Given the description of an element on the screen output the (x, y) to click on. 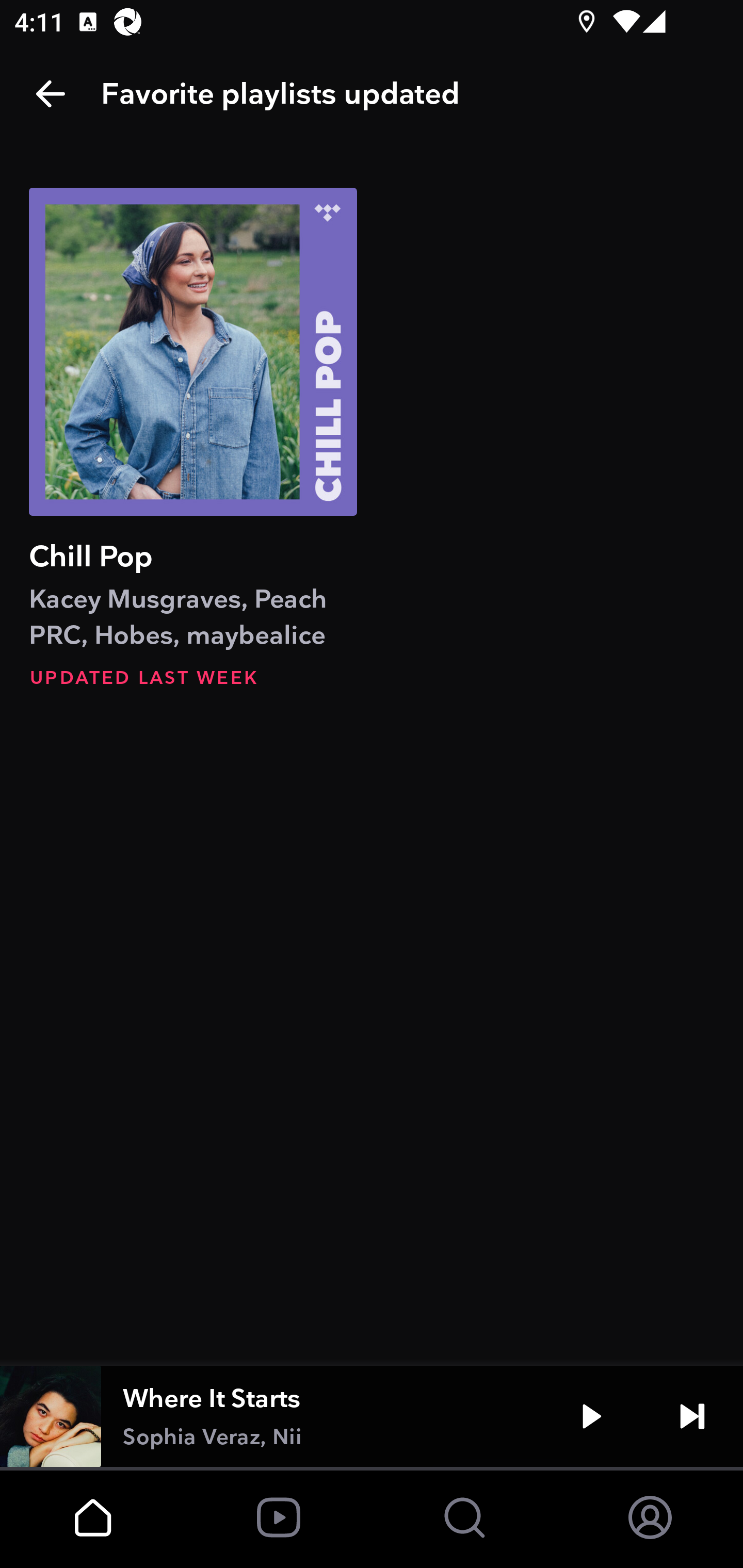
Where It Starts Sophia Veraz, Nii Play (371, 1416)
Play (590, 1416)
